Given the description of an element on the screen output the (x, y) to click on. 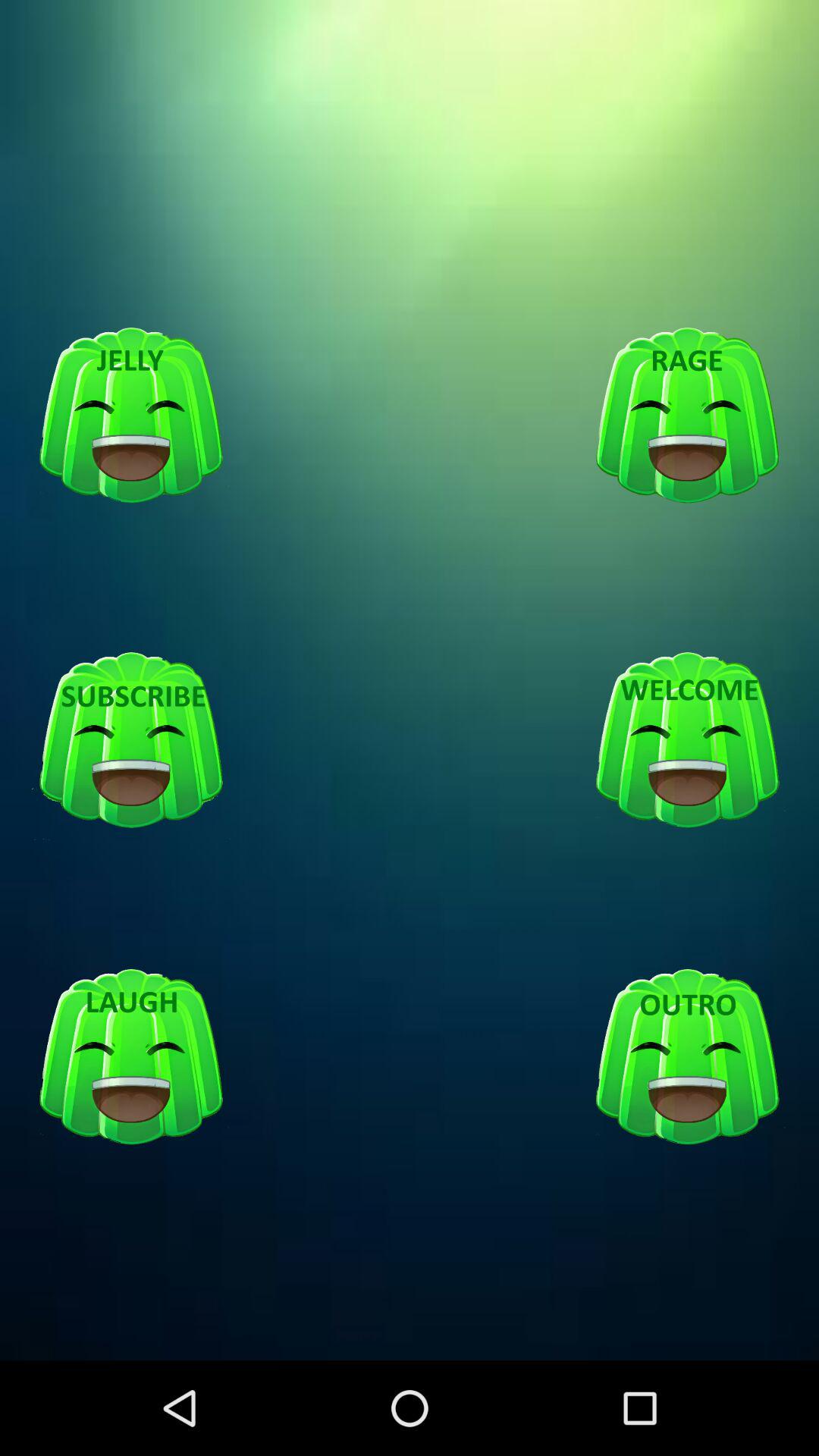
tap the icon on the left (130, 740)
